Given the description of an element on the screen output the (x, y) to click on. 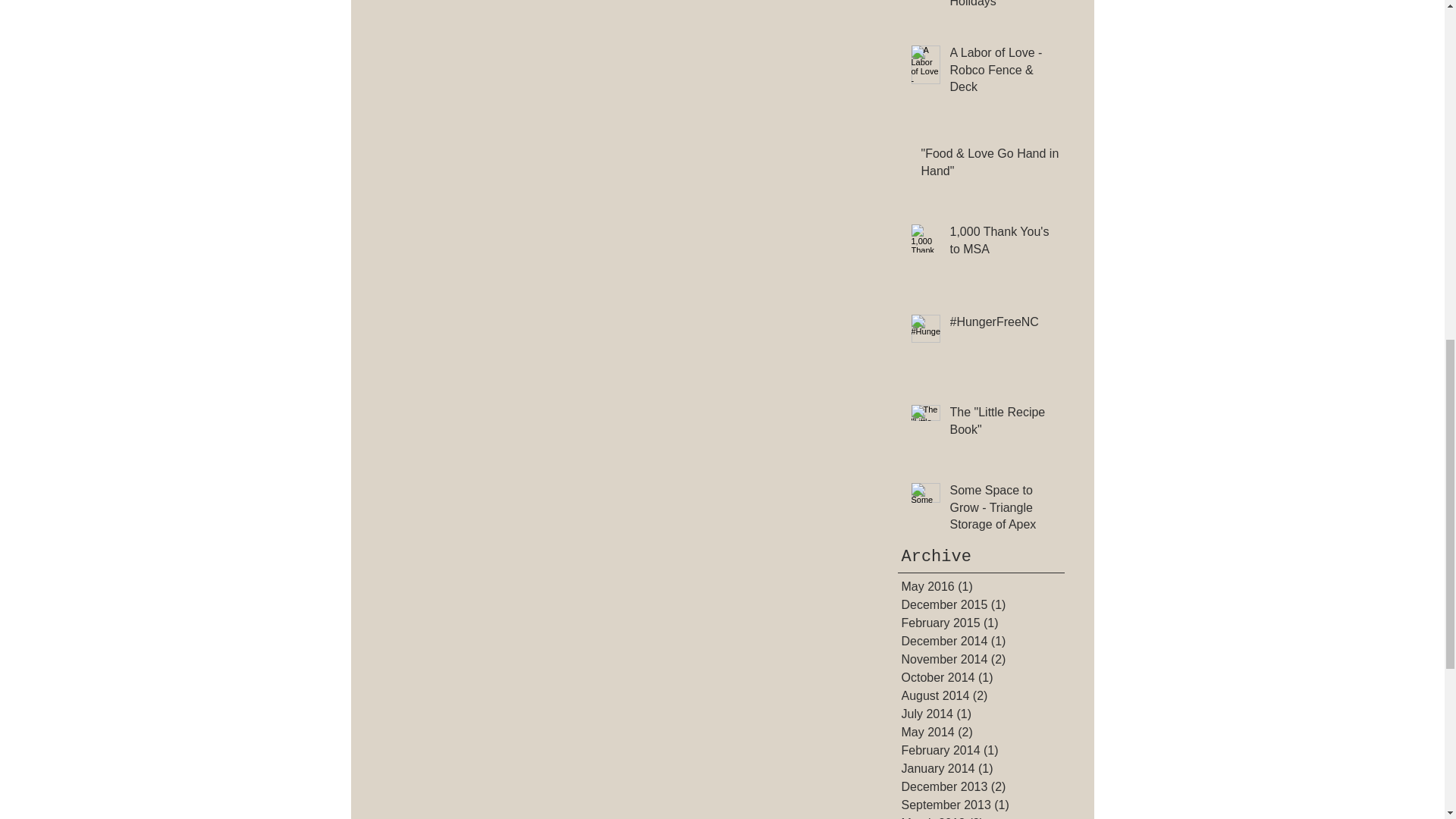
1,000 Thank You's to MSA (1003, 243)
The "Little Recipe Book" (1003, 424)
MSA Brings Food Home for the Holidays (1003, 7)
Some Space to Grow - Triangle Storage of Apex (1003, 510)
